Given the description of an element on the screen output the (x, y) to click on. 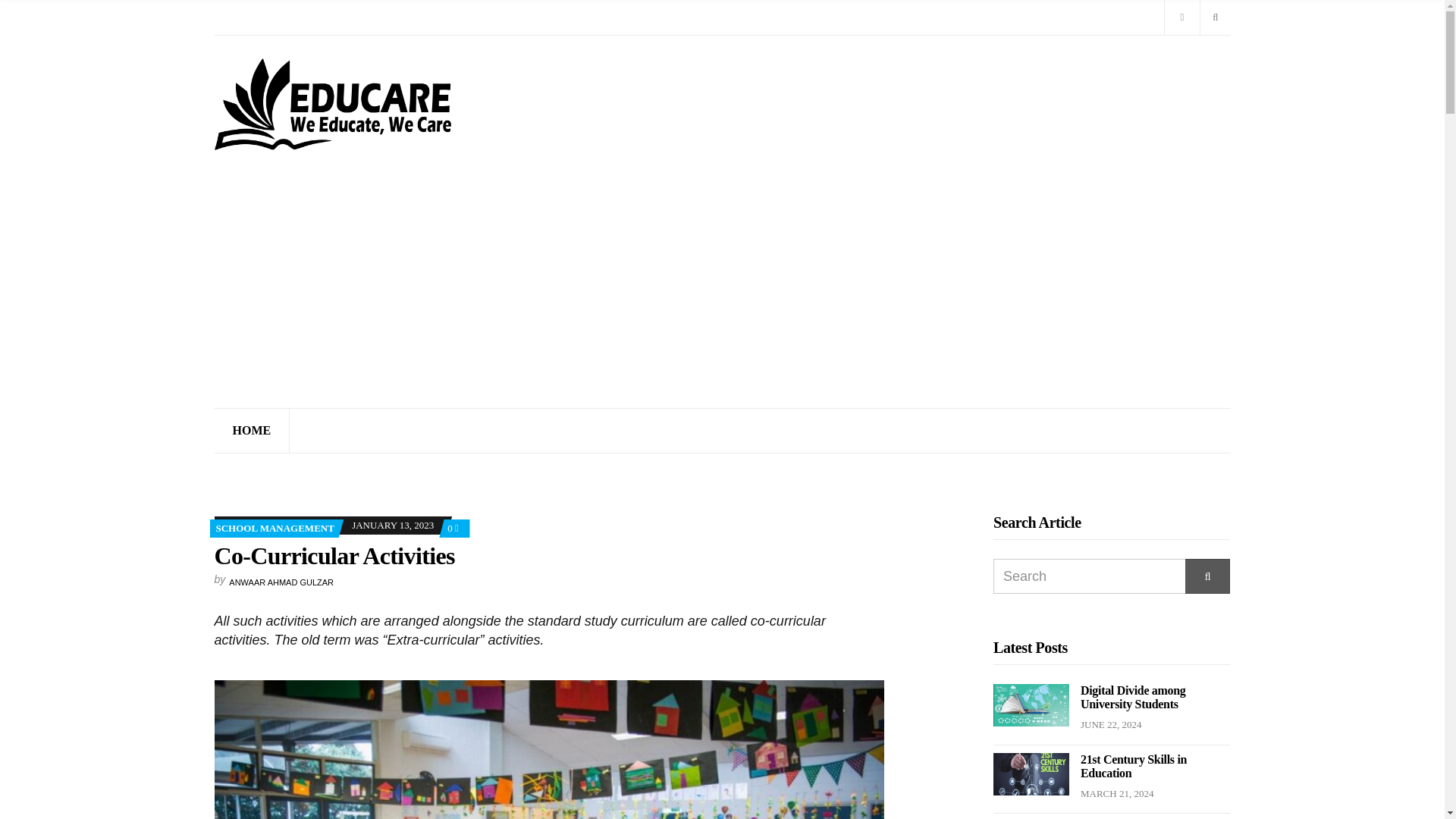
21st Century Skills in Education (1133, 765)
SCHOOL MANAGEMENT (274, 527)
0 (452, 527)
Digital Divide among University Students (1133, 696)
HOME (251, 430)
Search (1207, 575)
ANWAAR AHMAD GULZAR (280, 582)
